Given the description of an element on the screen output the (x, y) to click on. 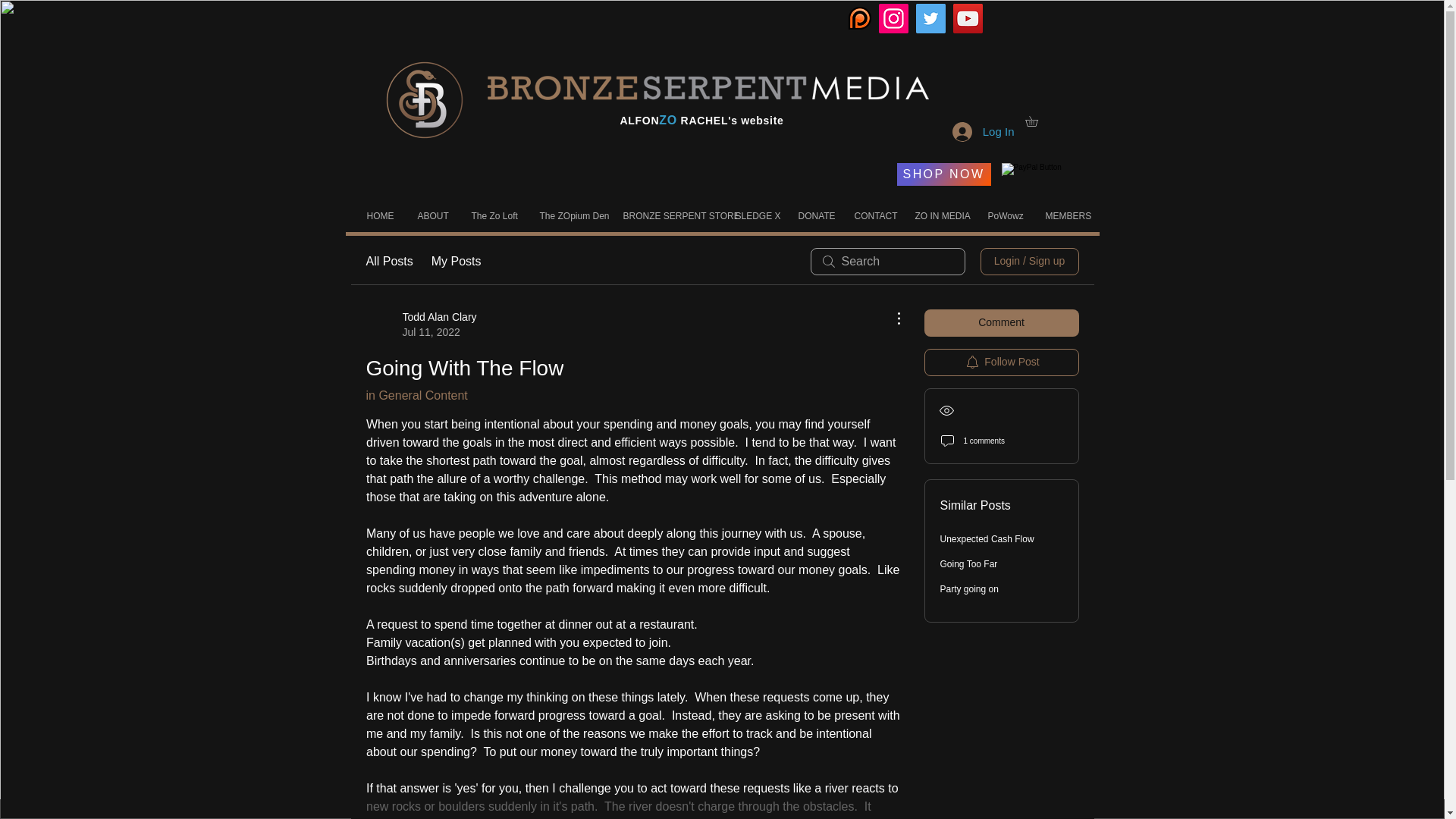
The Zo Loft (493, 215)
Log In (983, 131)
HOME (380, 215)
ZO (668, 119)
CONTACT (873, 215)
in General Content (416, 395)
All Posts (388, 261)
My Posts (420, 324)
The ZOpium Den (455, 261)
